Given the description of an element on the screen output the (x, y) to click on. 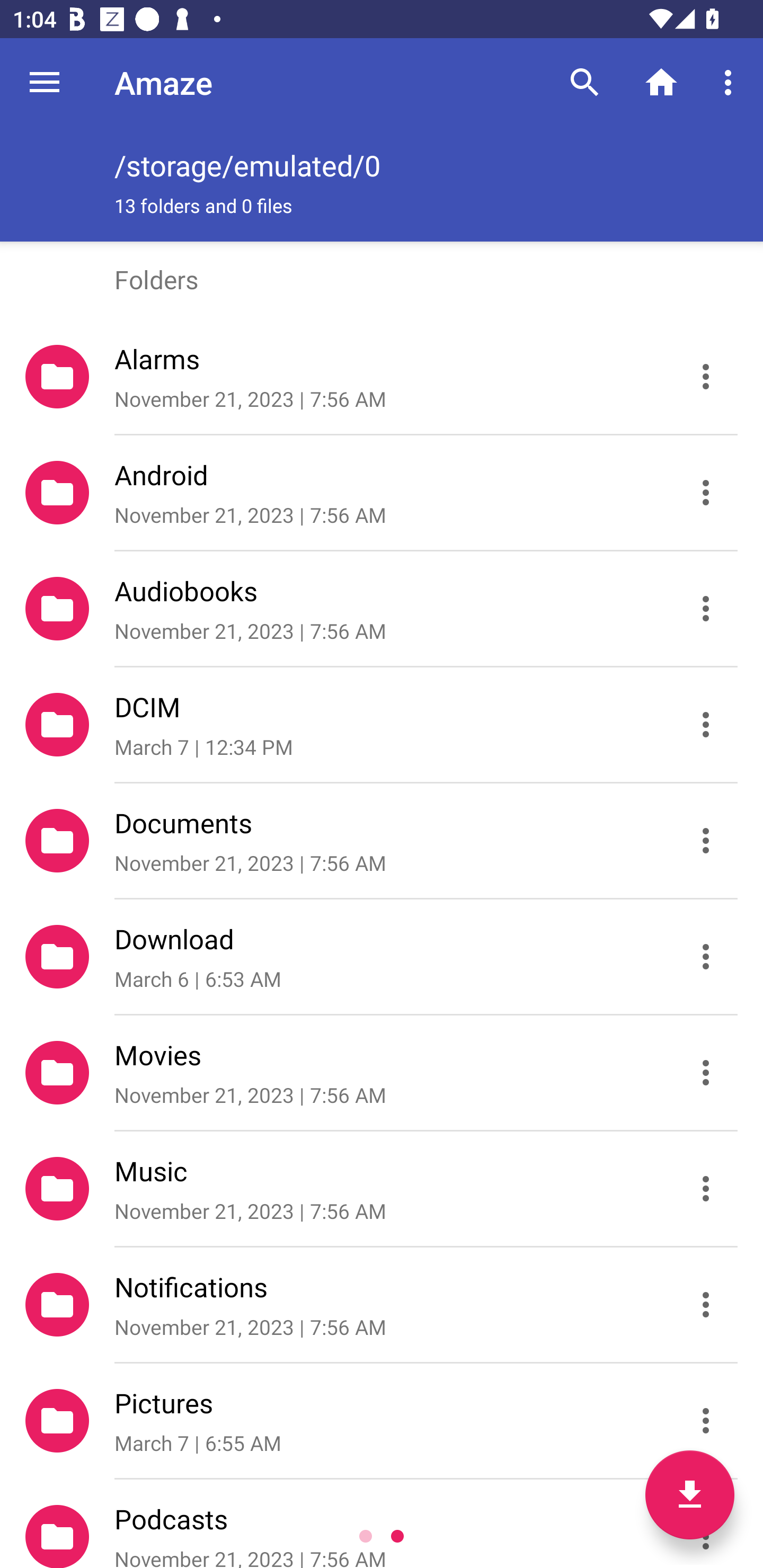
Navigate up (44, 82)
Search (585, 81)
Home (661, 81)
More options (731, 81)
Alarms November 21, 2023 | 7:56 AM (381, 376)
Android November 21, 2023 | 7:56 AM (381, 492)
Audiobooks November 21, 2023 | 7:56 AM (381, 608)
DCIM March 7 | 12:34 PM (381, 724)
Documents November 21, 2023 | 7:56 AM (381, 841)
Download March 6 | 6:53 AM (381, 957)
Movies November 21, 2023 | 7:56 AM (381, 1073)
Music November 21, 2023 | 7:56 AM (381, 1189)
Notifications November 21, 2023 | 7:56 AM (381, 1305)
Pictures March 7 | 6:55 AM (381, 1421)
Podcasts November 21, 2023 | 7:56 AM (381, 1524)
